Given the description of an element on the screen output the (x, y) to click on. 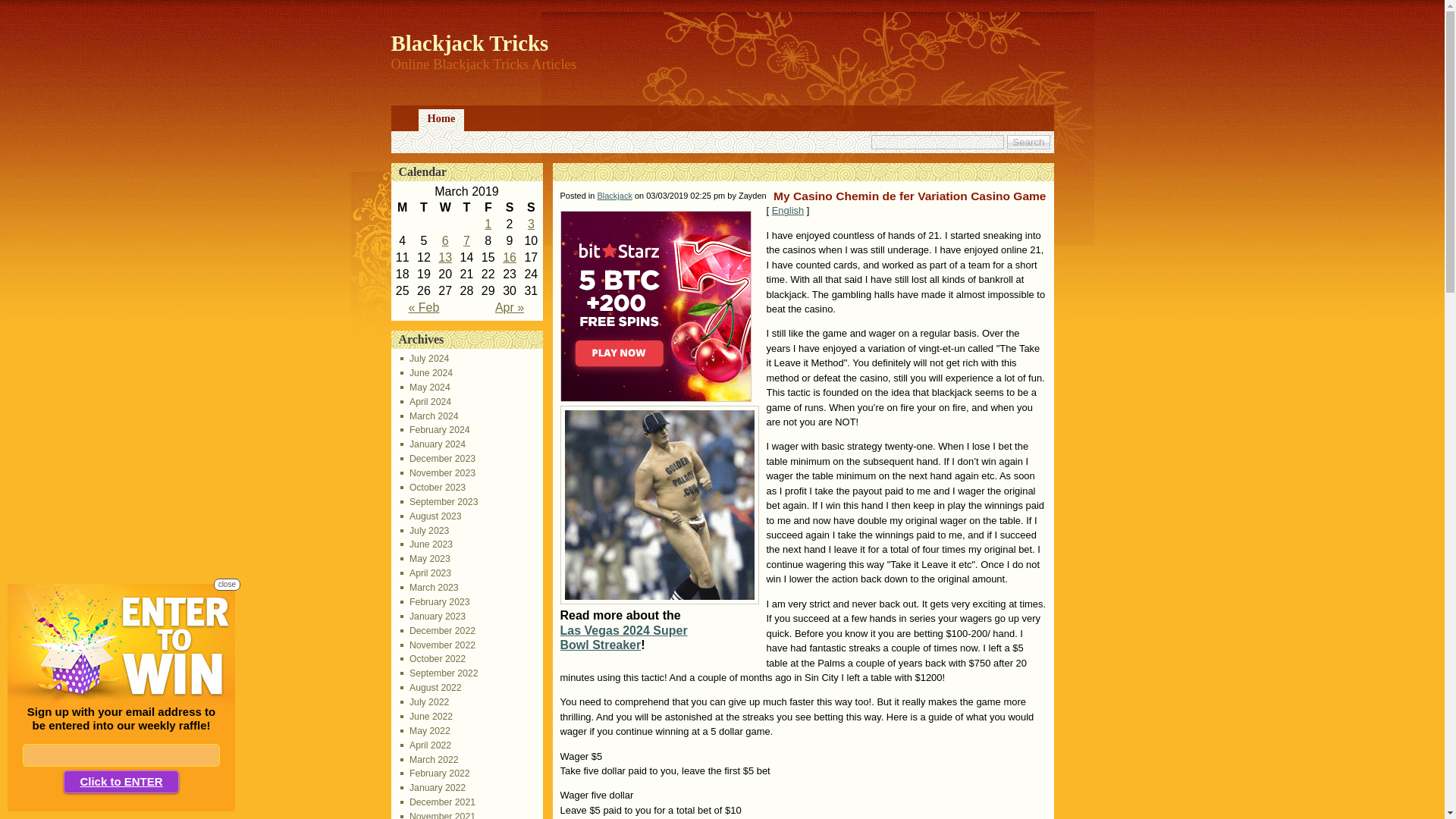
June 2022 (426, 716)
March 2023 (429, 587)
May 2023 (424, 558)
February 2024 (435, 429)
April 2022 (425, 745)
August 2022 (430, 687)
August 2023 (430, 516)
October 2022 (432, 658)
July 2022 (424, 701)
September 2022 (439, 673)
October 2023 (432, 487)
1 (488, 223)
View posts for April 2019 (509, 307)
January 2023 (432, 615)
Thursday (466, 207)
